Given the description of an element on the screen output the (x, y) to click on. 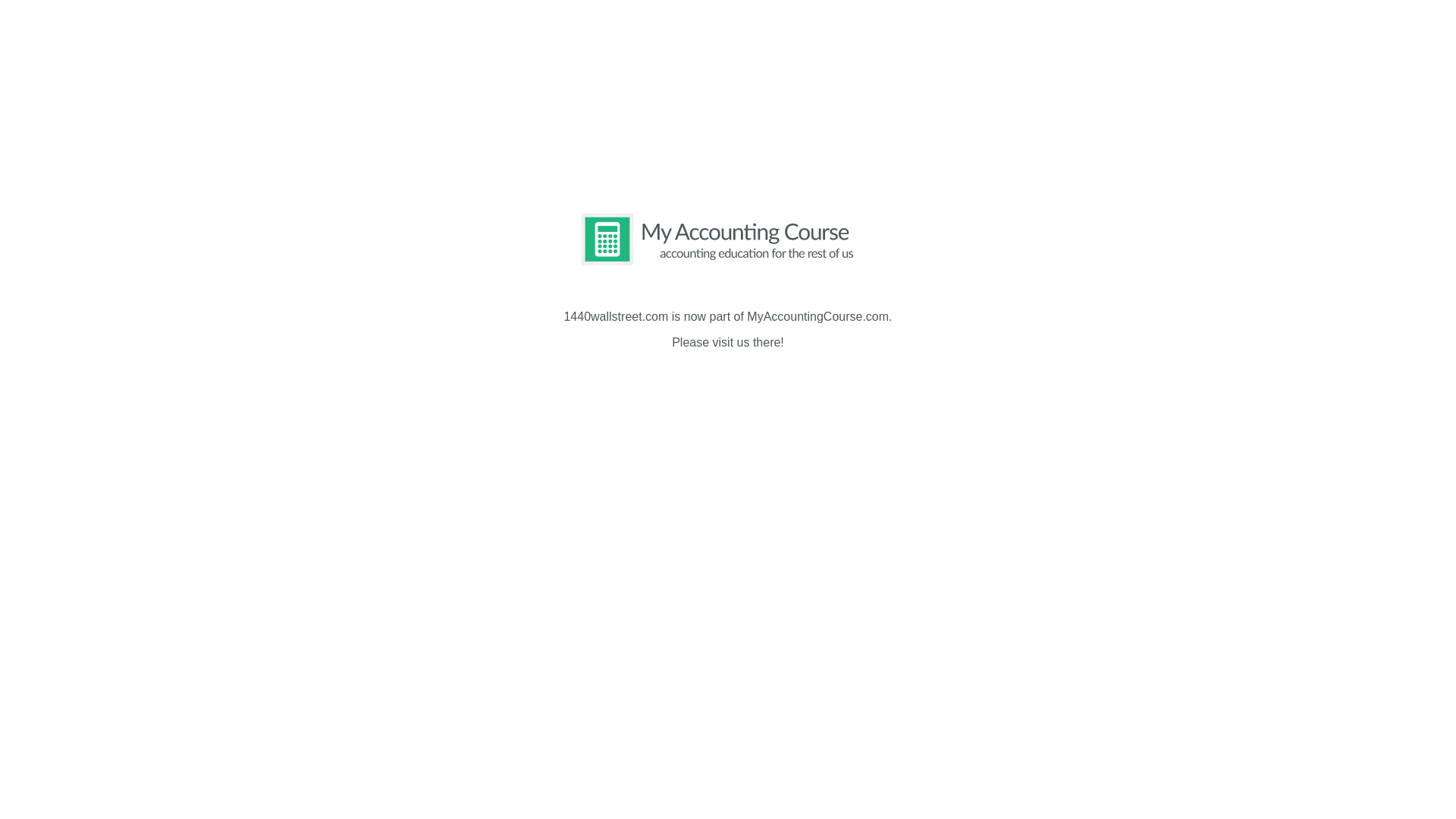
1440 Wall Street Element type: text (363, 92)
